Given the description of an element on the screen output the (x, y) to click on. 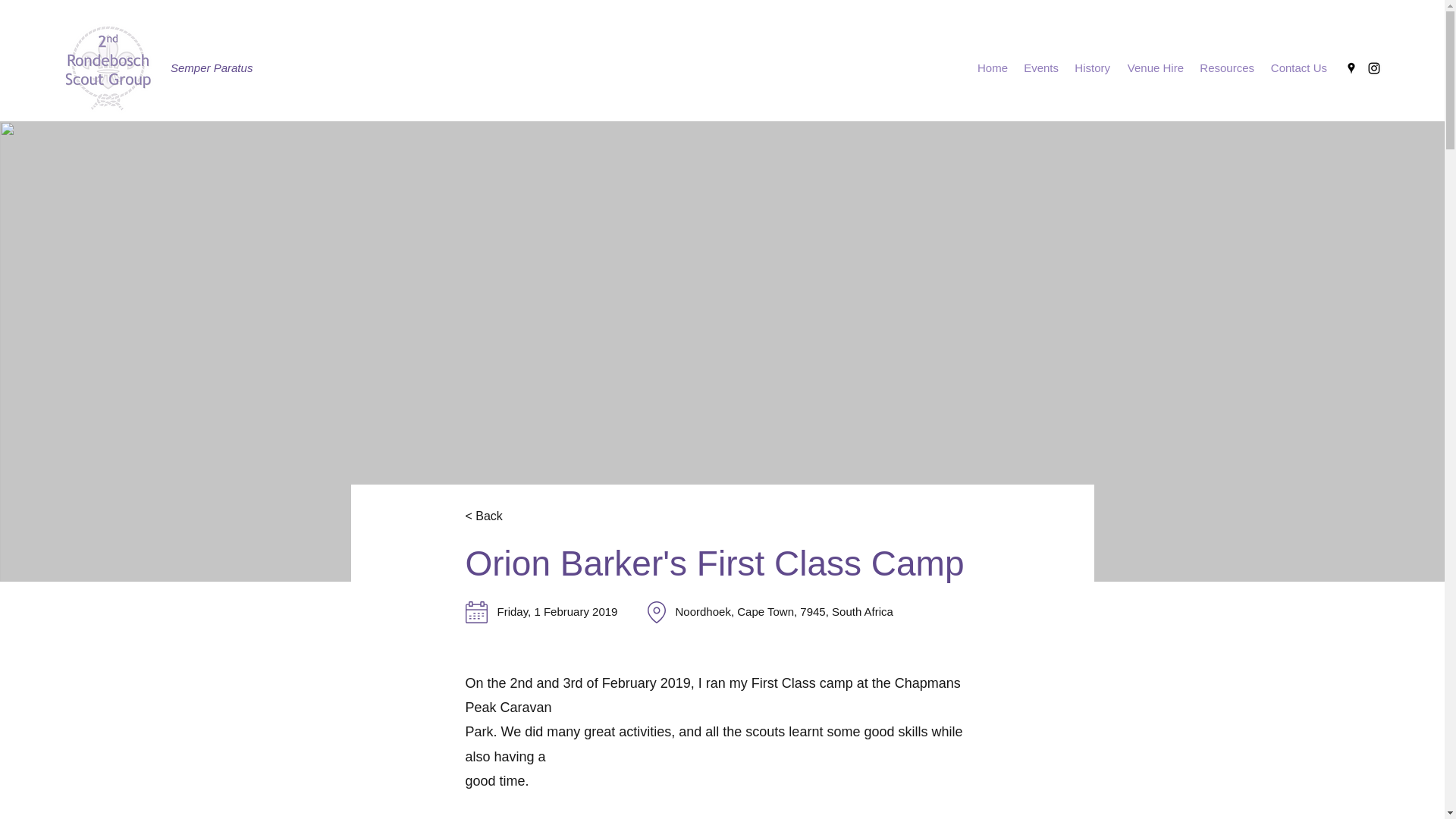
Resources (1226, 67)
Home (991, 67)
Events (1039, 67)
Contact Us (1298, 67)
History (1091, 67)
Venue Hire (1154, 67)
